Given the description of an element on the screen output the (x, y) to click on. 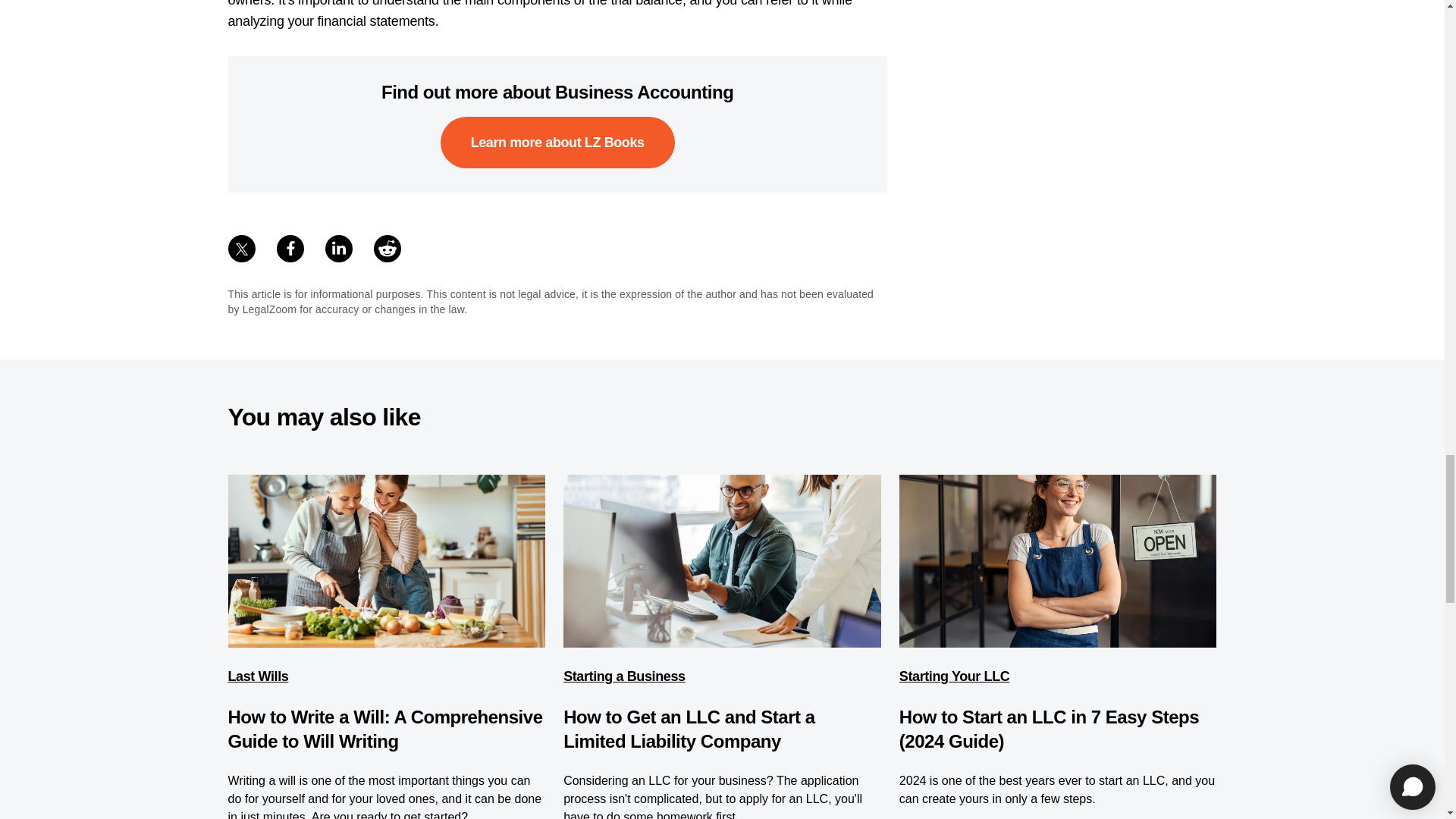
Last Wills (257, 676)
Share to LinkedIn (338, 248)
Share to Twitter (240, 248)
Learn more about LZ Books (558, 142)
Share to Facebook (289, 248)
Starting a Business (623, 676)
Starting Your LLC (954, 676)
How to Write a Will: A Comprehensive Guide to Will Writing (384, 728)
How to Get an LLC and Start a Limited Liability Company (688, 728)
Share to Reddit (386, 248)
